Given the description of an element on the screen output the (x, y) to click on. 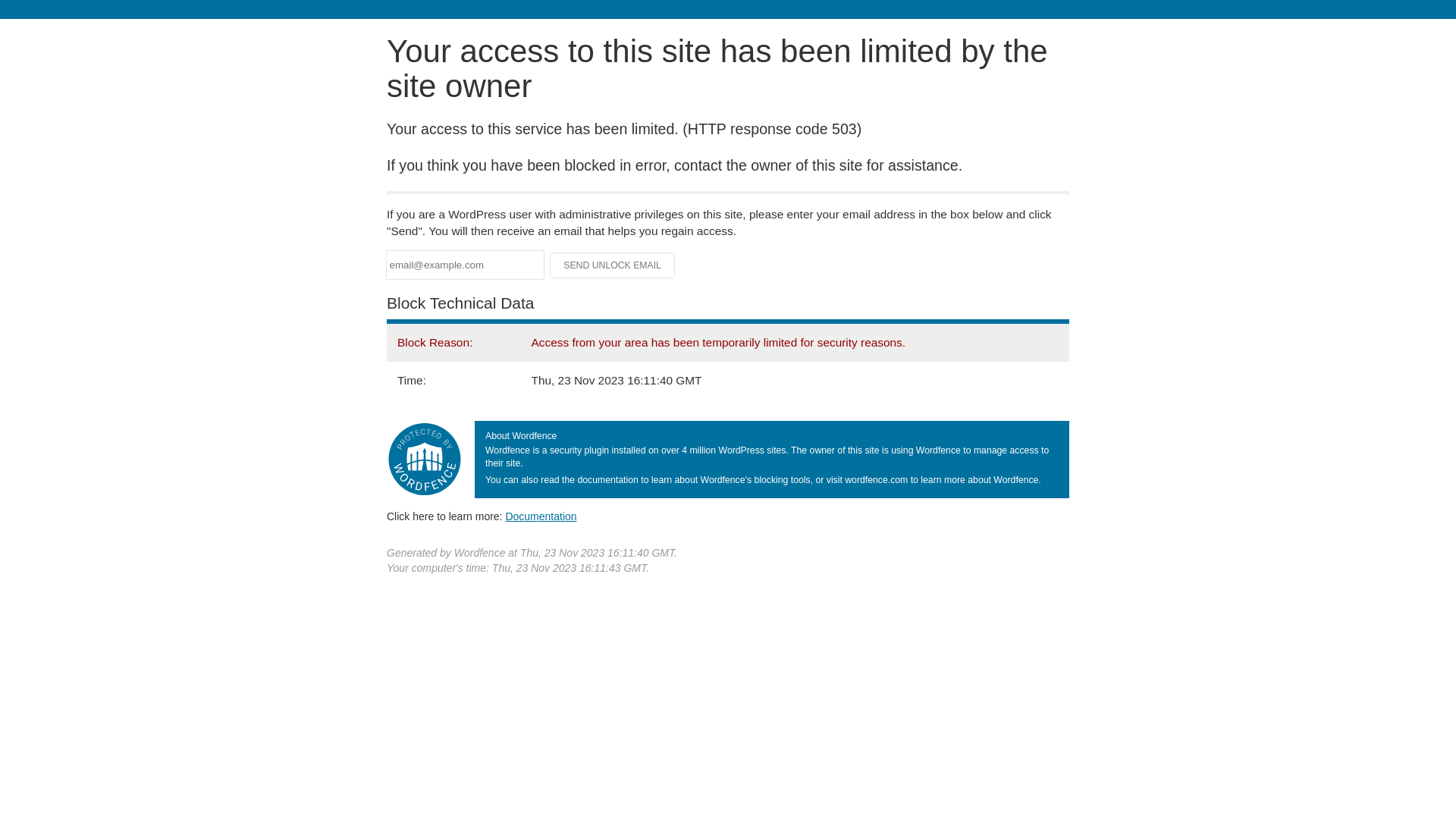
Send Unlock Email Element type: text (612, 265)
Documentation Element type: text (540, 516)
